Given the description of an element on the screen output the (x, y) to click on. 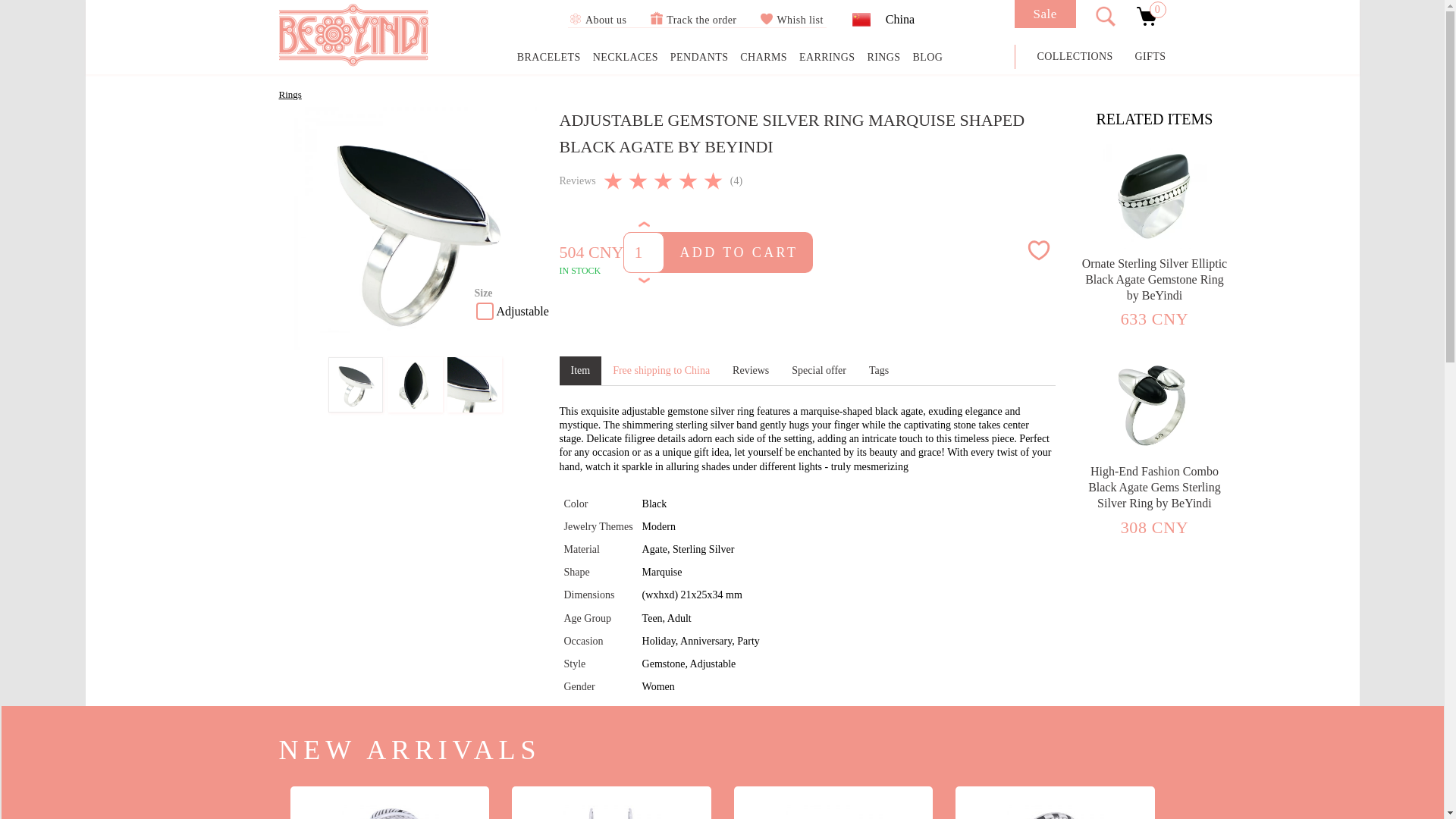
Track the order (692, 19)
BLOG (927, 57)
Rings (290, 94)
Item (580, 370)
Tags (878, 370)
Reviews (750, 370)
GIFTS (1150, 56)
CHARMS (763, 57)
ADD TO CART (737, 251)
NECKLACES (625, 57)
PENDANTS (698, 57)
About us (596, 19)
COLLECTIONS (1074, 56)
EARRINGS (826, 57)
 Add Favorite (1038, 250)
